Given the description of an element on the screen output the (x, y) to click on. 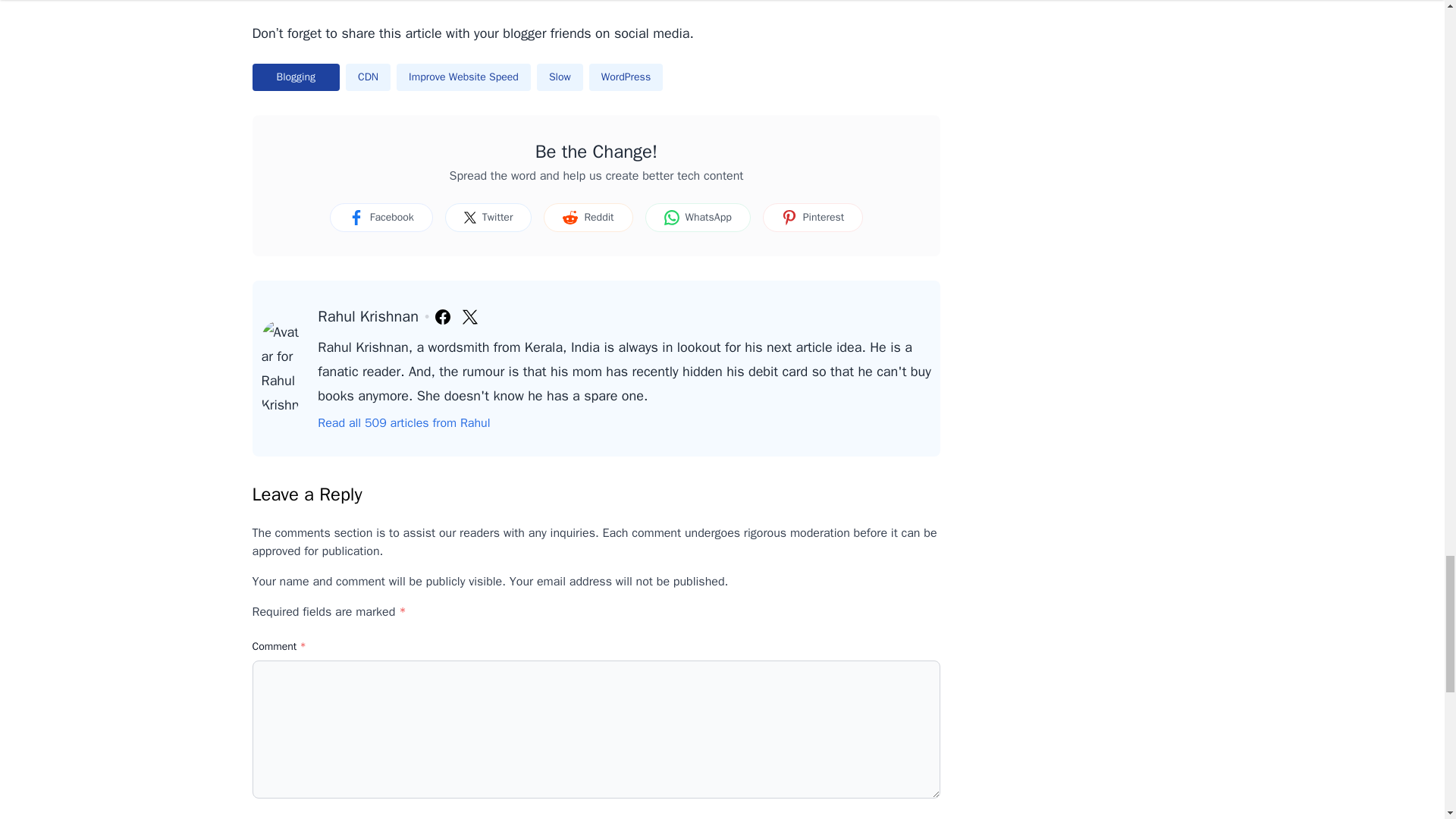
View all posts in WordPress (625, 76)
View all posts in Blogging (295, 76)
View all posts in CDN (368, 76)
Blogging (295, 76)
Gravatar for Rahul Krishnan (279, 368)
View all posts in Slow (560, 76)
View all posts in Improve Website Speed (463, 76)
